Given the description of an element on the screen output the (x, y) to click on. 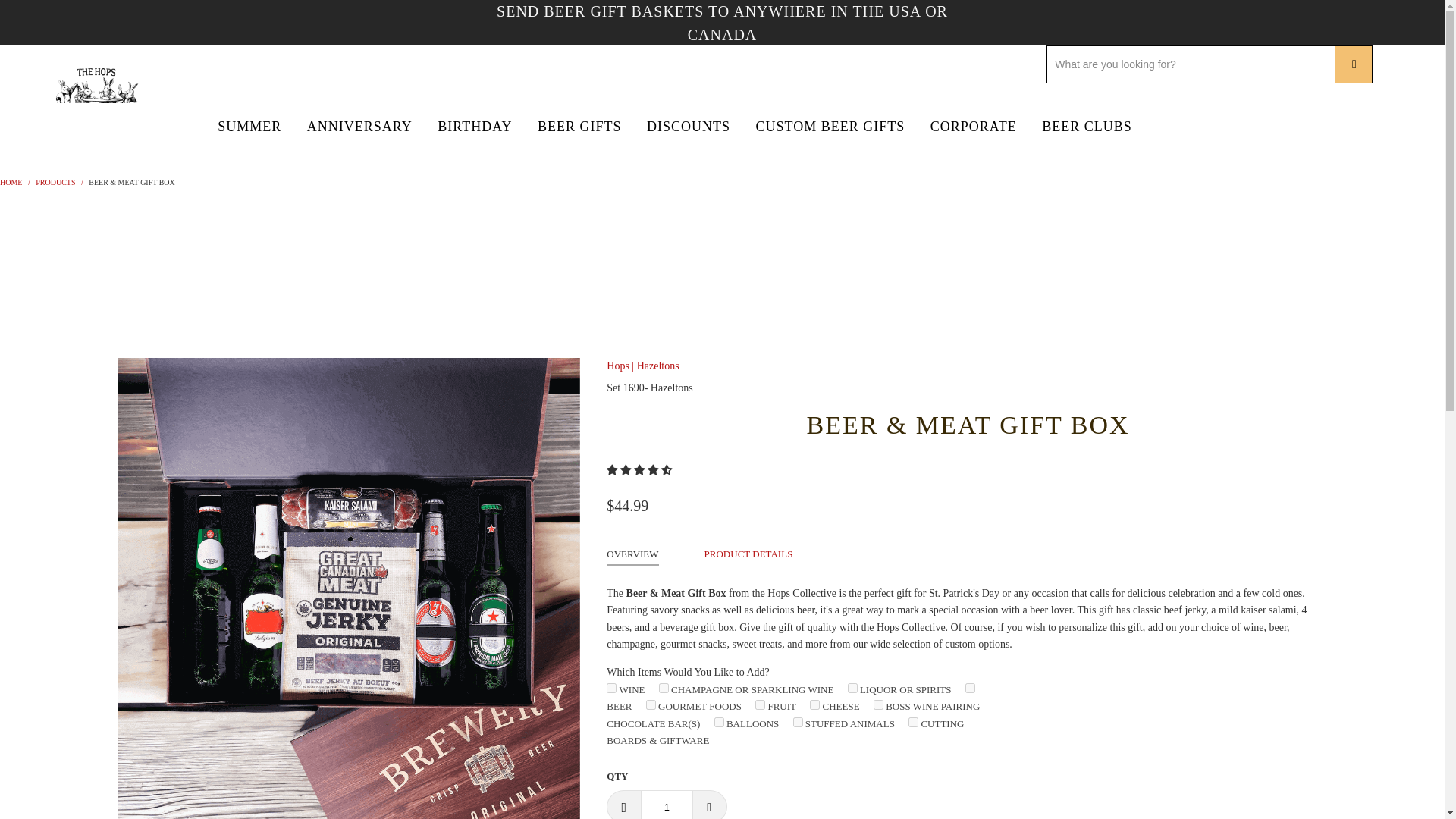
Hops Collective USA (95, 105)
Cheese (814, 705)
Hops Collective USA (10, 182)
Products (54, 182)
Gourmet Foods (651, 705)
Hops Collective USA (95, 2)
Liquor or Spirits (852, 687)
Wine (611, 687)
Beer (970, 687)
My Account  (1304, 2)
Balloons (718, 722)
Fruit (760, 705)
Stuffed Animals (798, 722)
1 (666, 804)
Champagne or Sparkling Wine (663, 687)
